Given the description of an element on the screen output the (x, y) to click on. 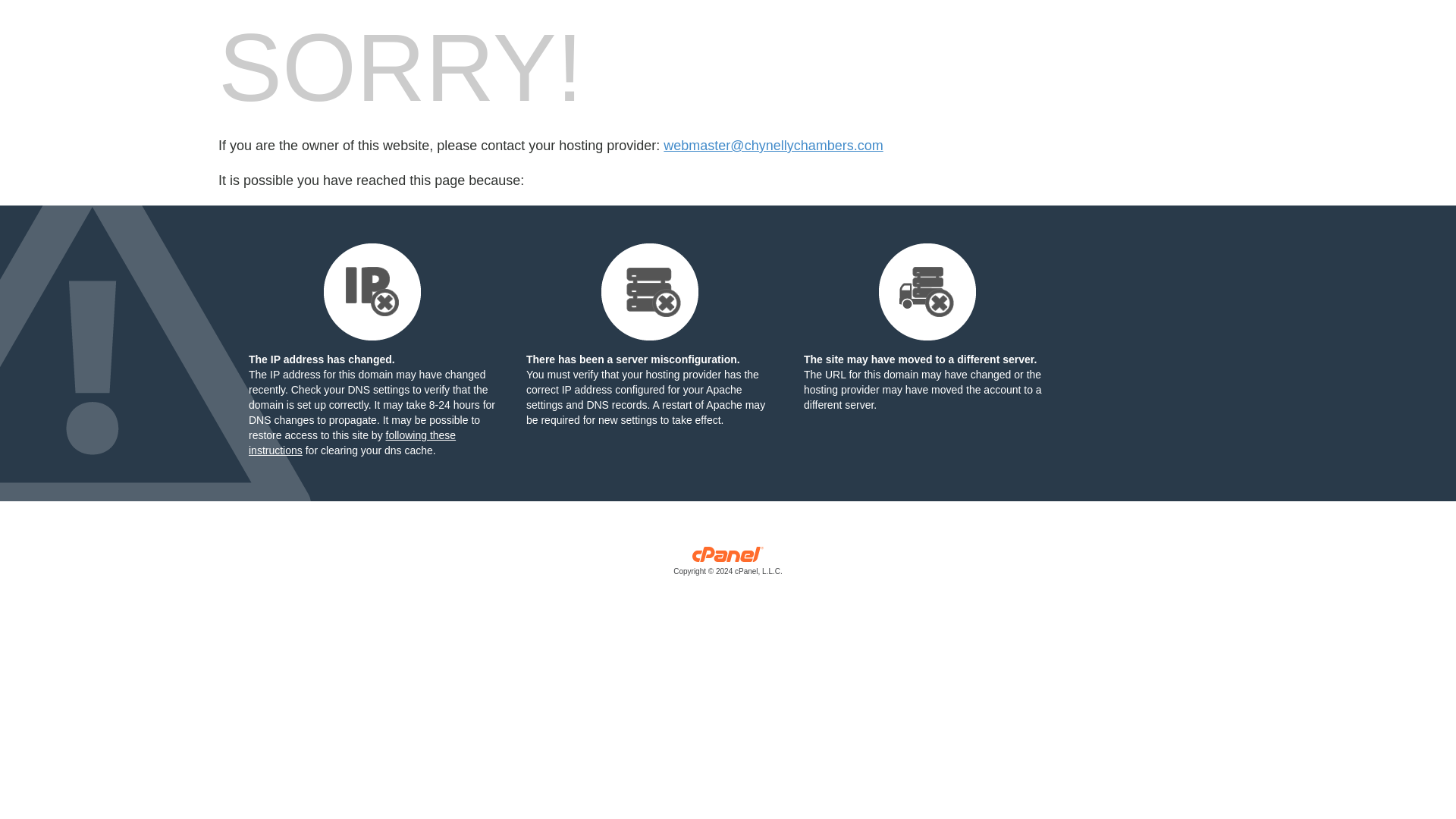
Click this link to contact the host (772, 145)
cPanel, L.L.C. (727, 564)
following these instructions (351, 442)
